Given the description of an element on the screen output the (x, y) to click on. 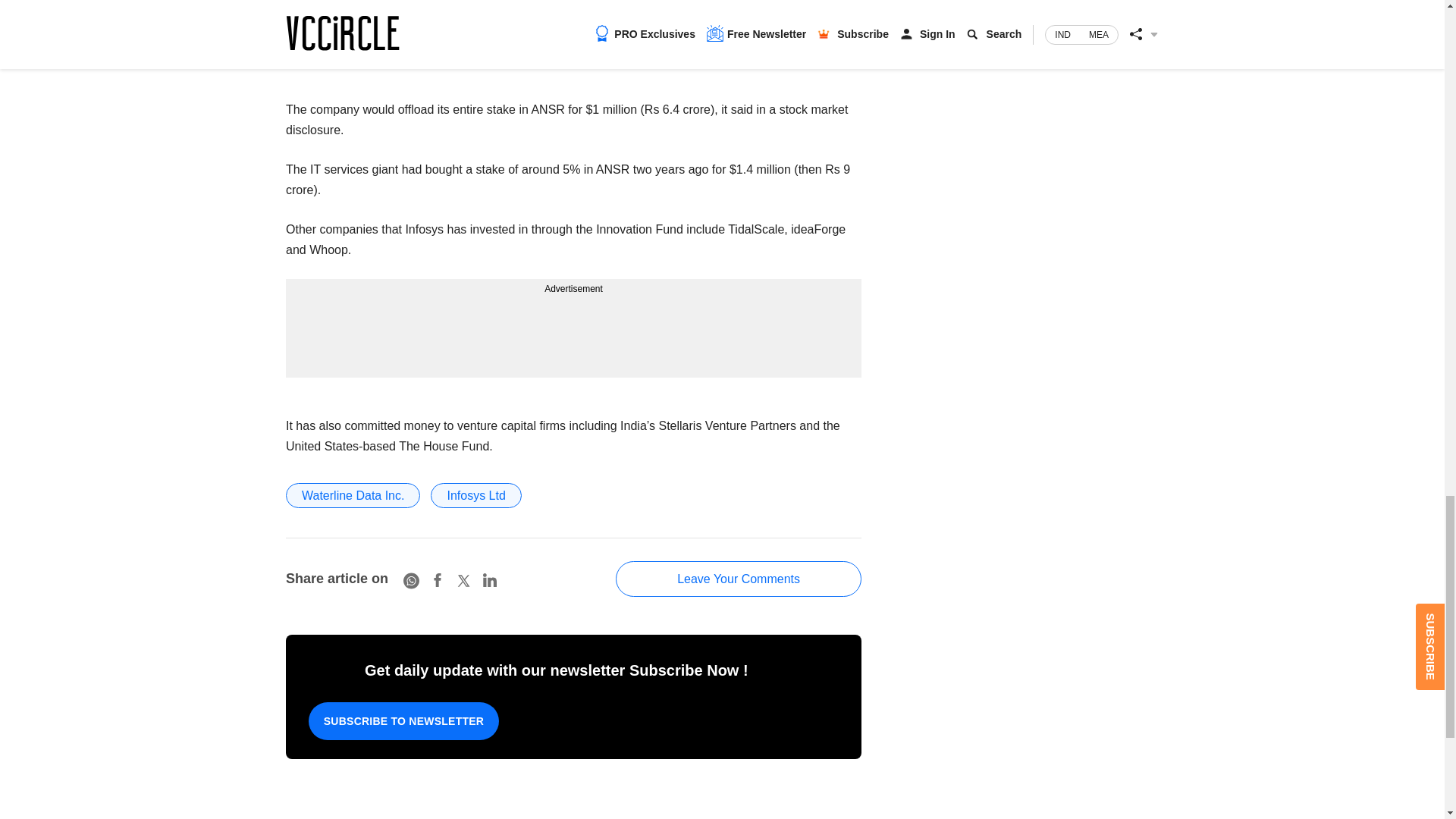
Waterline Data Inc. (352, 495)
Leave Your Comments (738, 579)
SUBSCRIBE TO NEWSLETTER (403, 720)
Infosys Ltd (475, 495)
